Given the description of an element on the screen output the (x, y) to click on. 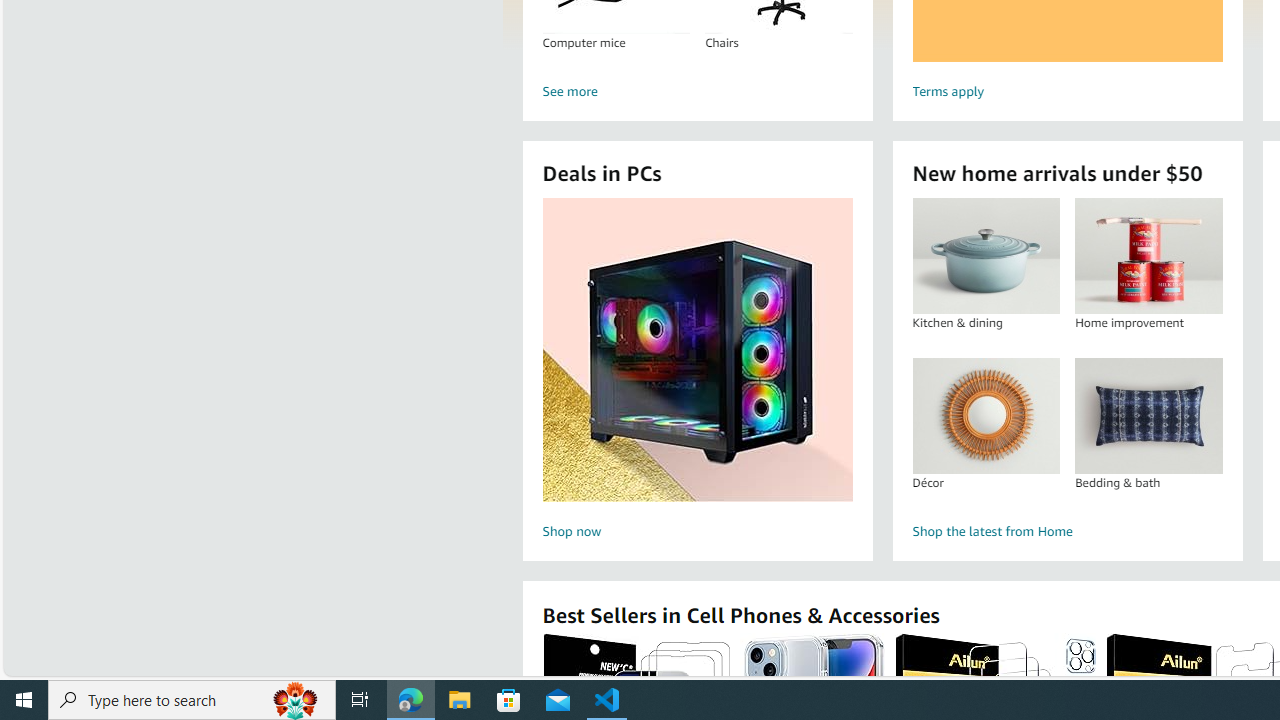
Deals in PCs Shop now (697, 371)
Bedding & bath (1148, 415)
Home improvement (1148, 256)
Bedding & bath (1148, 415)
Kitchen & dining (986, 256)
Deals in PCs (697, 349)
Kitchen & dining (985, 256)
Shop the latest from Home (1066, 532)
Home improvement (1148, 256)
